Given the description of an element on the screen output the (x, y) to click on. 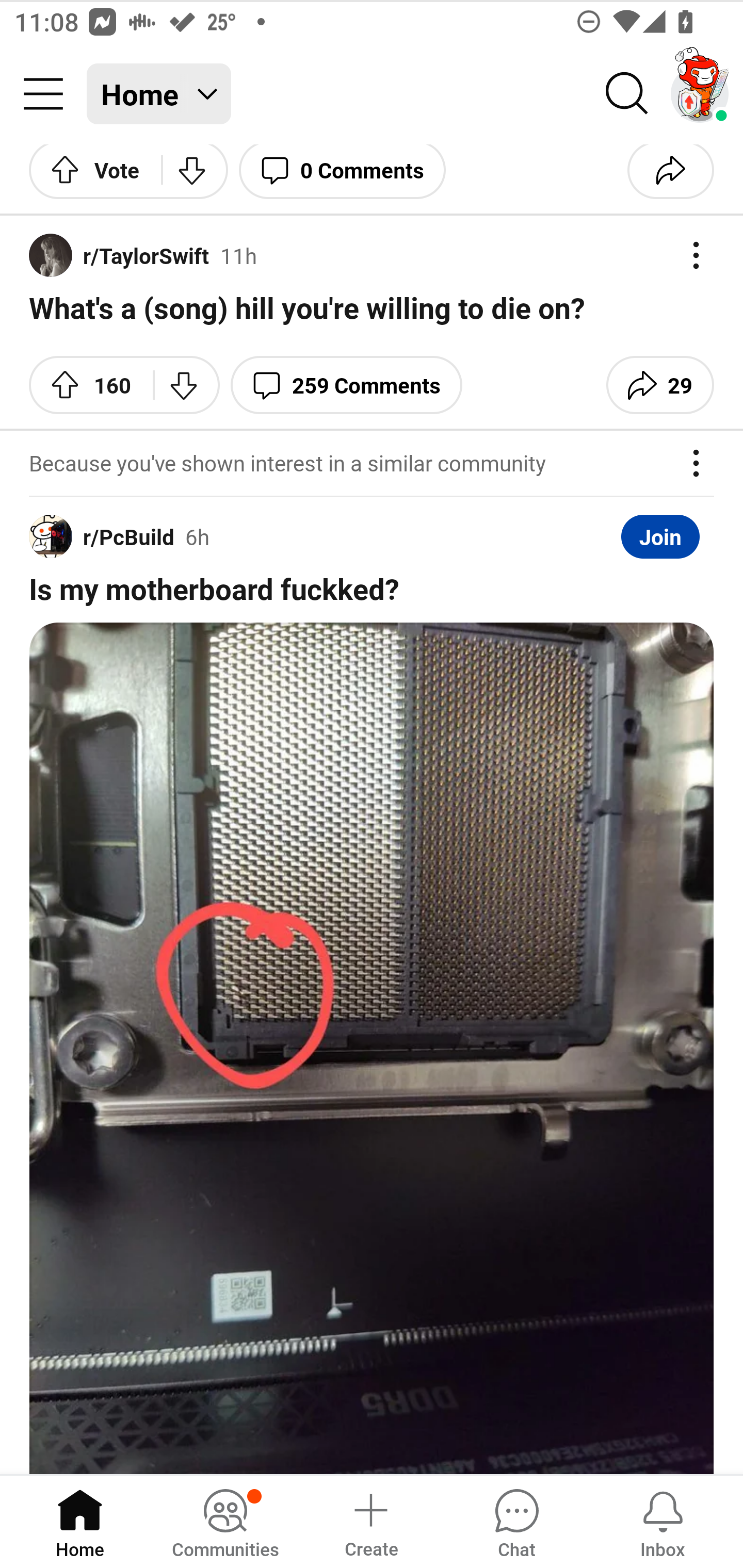
Community menu (43, 93)
Home Home feed (158, 93)
Search (626, 93)
TestAppium002 account (699, 93)
Home (80, 1520)
Communities, has notifications Communities (225, 1520)
Create a post Create (370, 1520)
Chat (516, 1520)
Inbox (662, 1520)
